Given the description of an element on the screen output the (x, y) to click on. 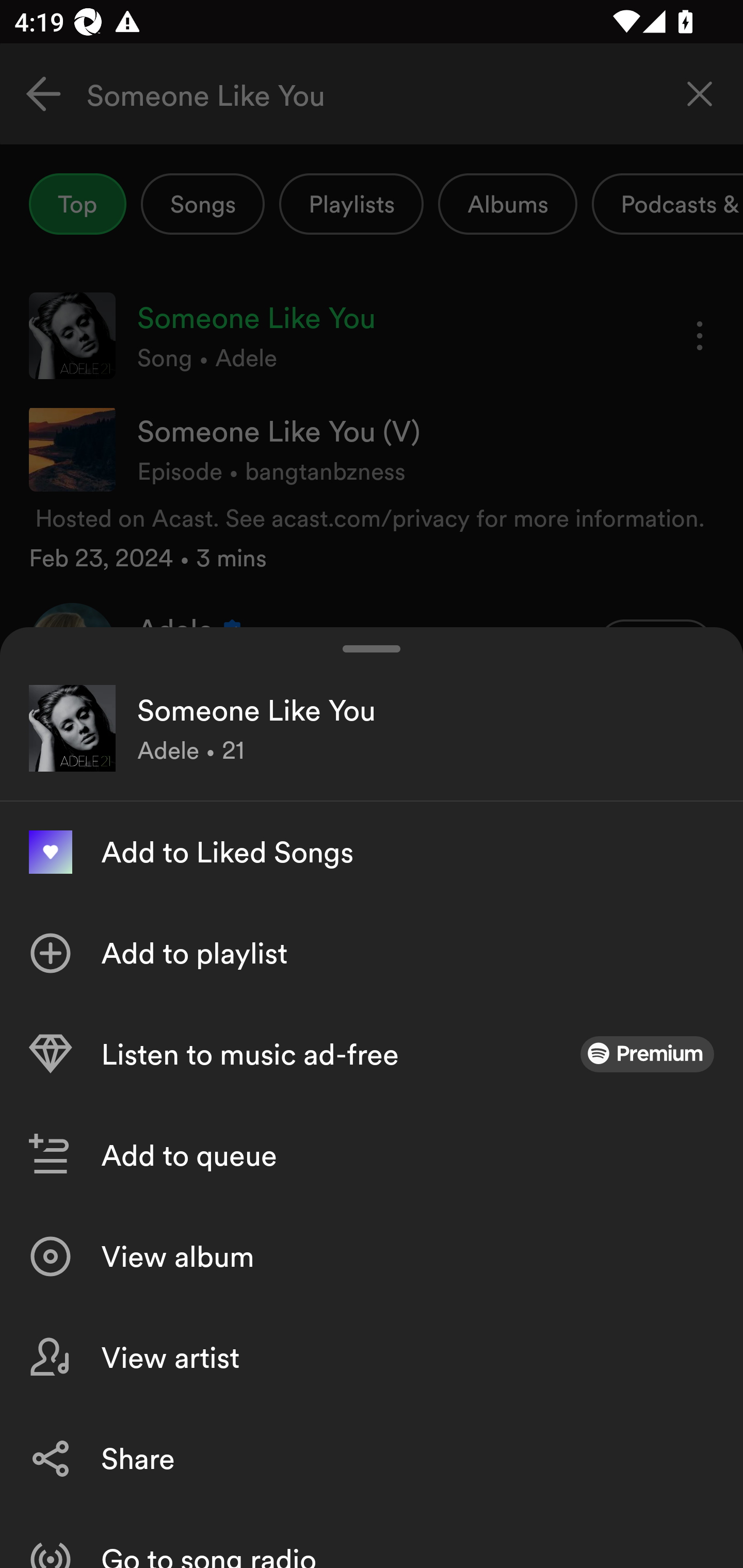
Add to Liked Songs (371, 852)
Add to playlist (371, 953)
Listen to music ad-free (371, 1054)
Add to queue (371, 1155)
View album (371, 1256)
View artist (371, 1357)
Share (371, 1458)
Go to song radio (371, 1538)
